Given the description of an element on the screen output the (x, y) to click on. 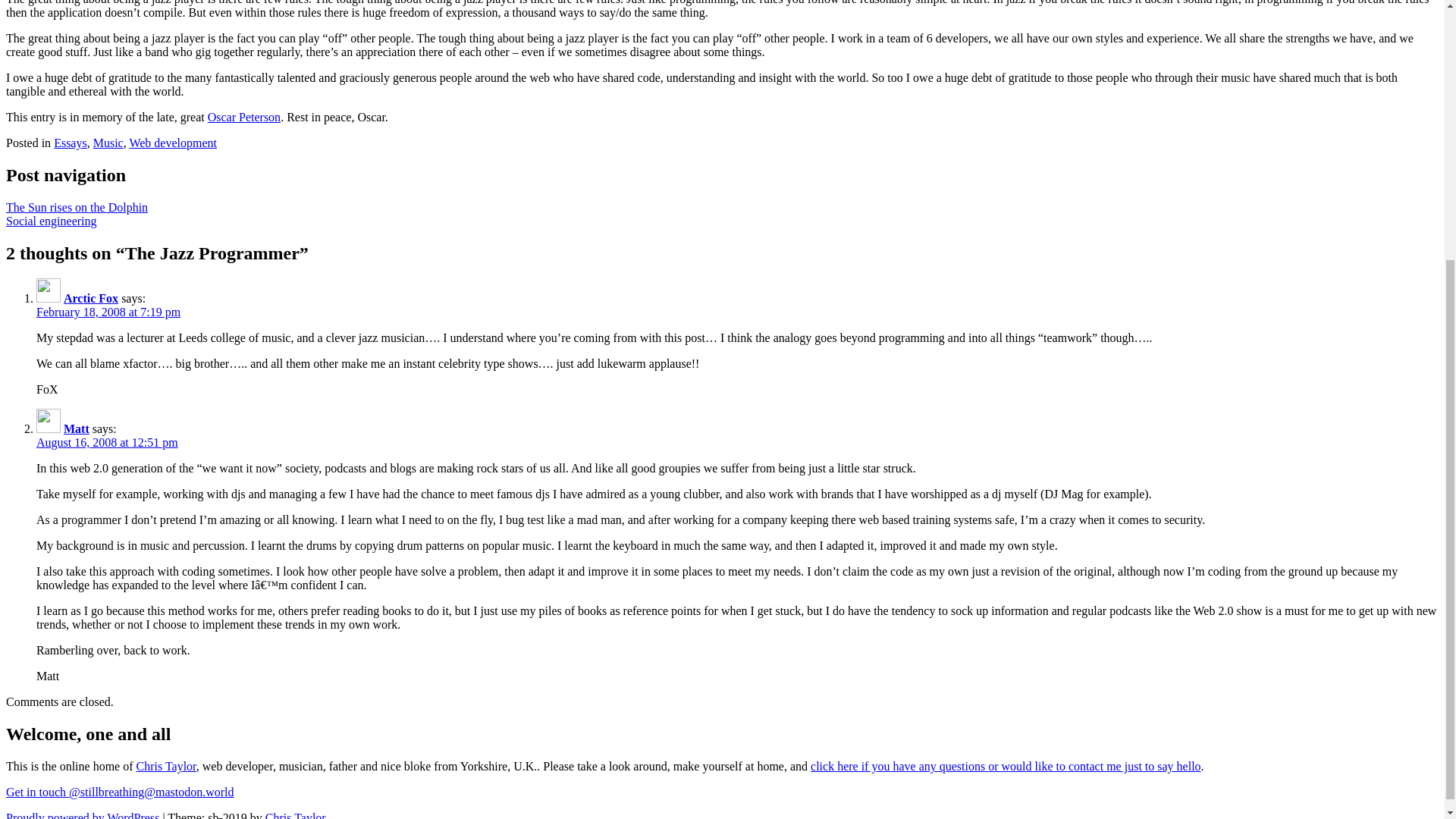
August 16, 2008 at 12:51 pm (106, 441)
Web development (172, 142)
Matt (76, 428)
Essays (70, 142)
Music (108, 142)
Oscar Peterson (244, 116)
February 18, 2008 at 7:19 pm (108, 311)
Chris Taylor (166, 766)
Social engineering (51, 220)
Arctic Fox (90, 297)
The Sun rises on the Dolphin (76, 206)
